Given the description of an element on the screen output the (x, y) to click on. 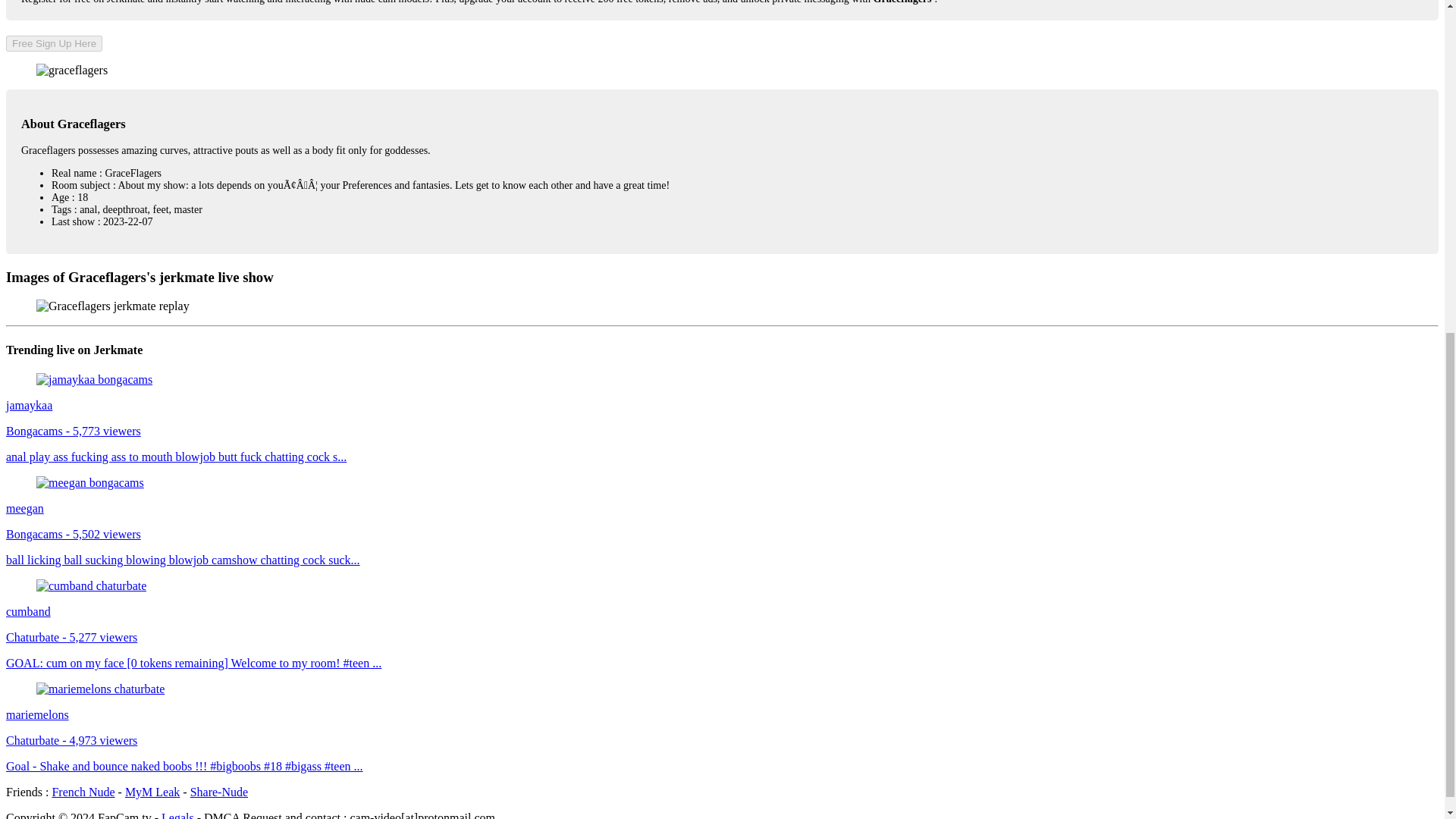
Free Sign Up Here (53, 42)
French Nude (82, 791)
Share-Nude (218, 791)
Free Sign Up Here (53, 43)
MyM Leak (152, 791)
